Given the description of an element on the screen output the (x, y) to click on. 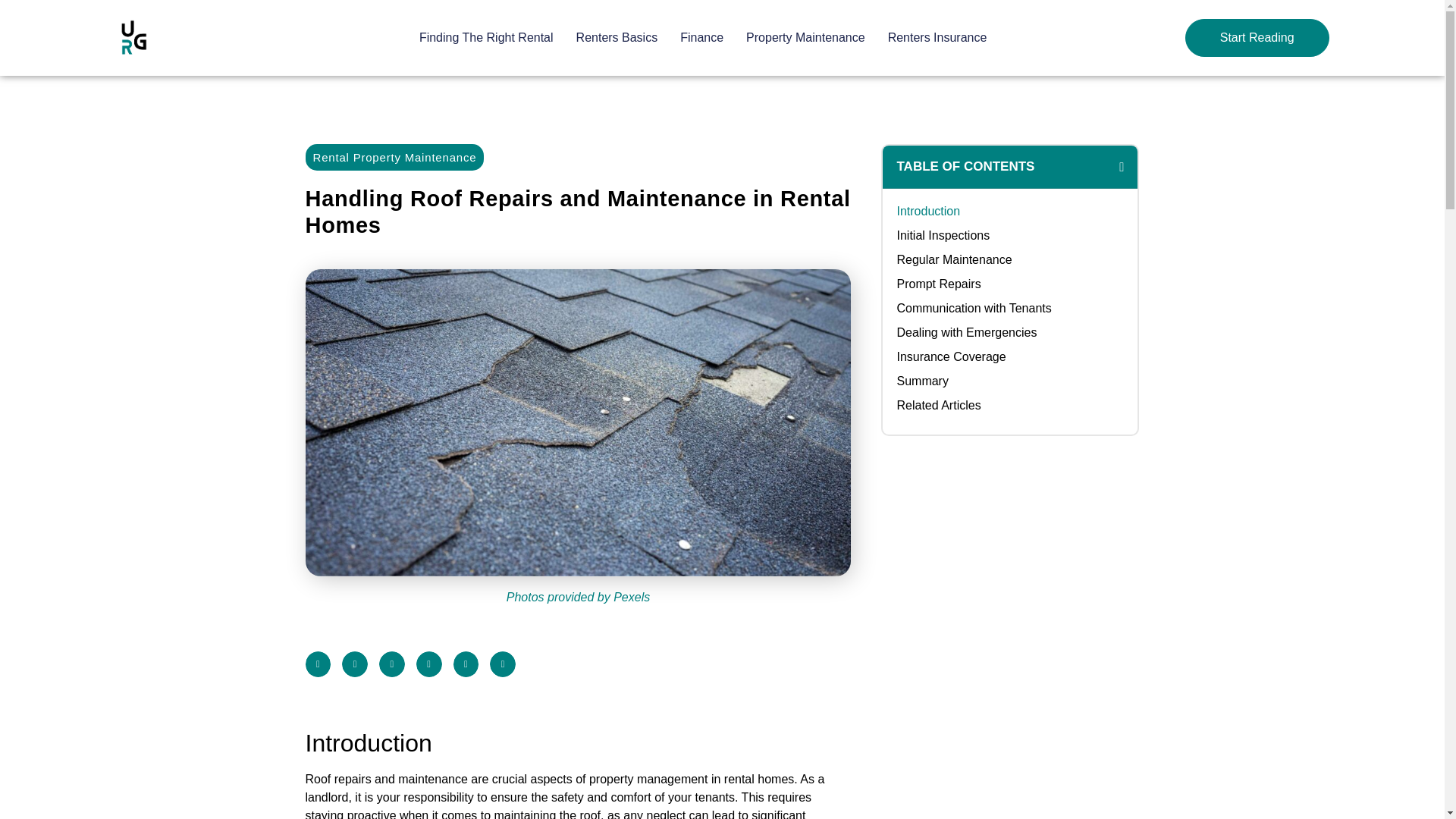
Finding The Right Rental (486, 37)
Property Maintenance (804, 37)
Rental Property Maintenance (394, 156)
Finance (701, 37)
Renters Basics (617, 37)
Start Reading (1257, 37)
Photos provided by Pexels (577, 597)
Renters Insurance (937, 37)
